Given the description of an element on the screen output the (x, y) to click on. 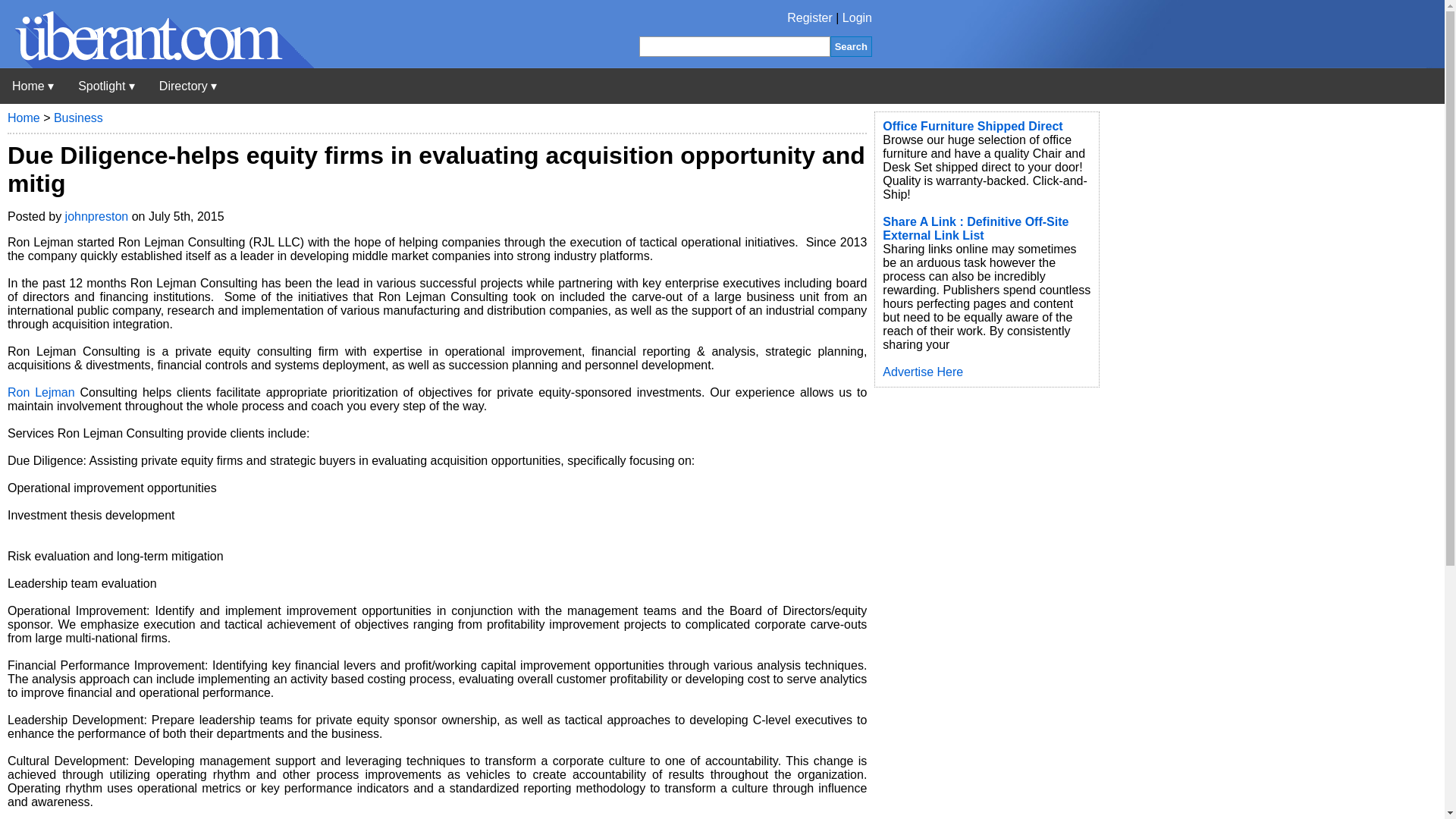
Uberant (157, 63)
Login (857, 17)
Register (809, 17)
Search (850, 46)
Uberant (32, 85)
Search (850, 46)
